Given the description of an element on the screen output the (x, y) to click on. 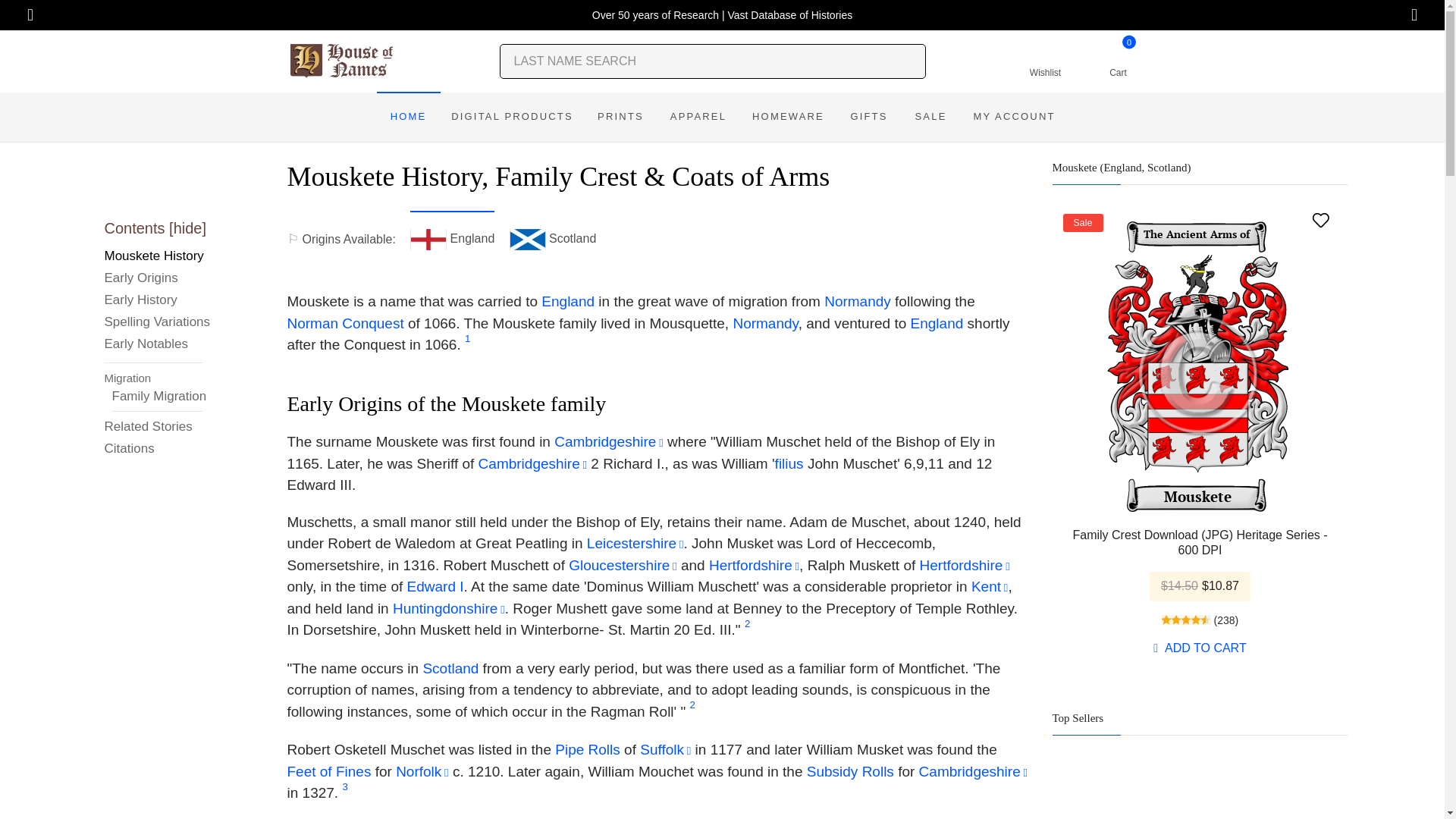
Early History (157, 301)
Related Stories (157, 427)
hide (187, 228)
Migration (157, 377)
PRINTS (619, 116)
APPAREL (697, 116)
Wishlist (1045, 61)
Mouskete History (1117, 61)
HOME (157, 258)
Family Migration (511, 116)
HOMEWARE (407, 116)
Early Notables (161, 395)
Citations (788, 116)
